Given the description of an element on the screen output the (x, y) to click on. 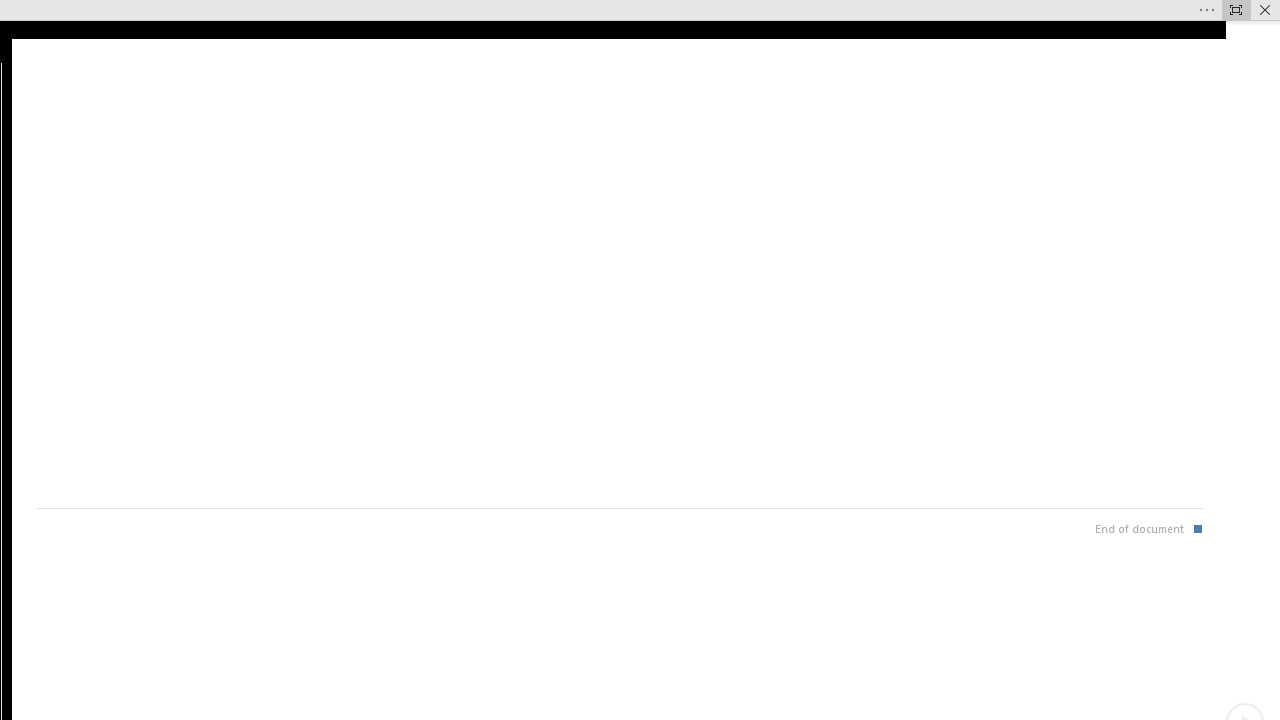
Always Show Reading Toolbar (1236, 10)
